Given the description of an element on the screen output the (x, y) to click on. 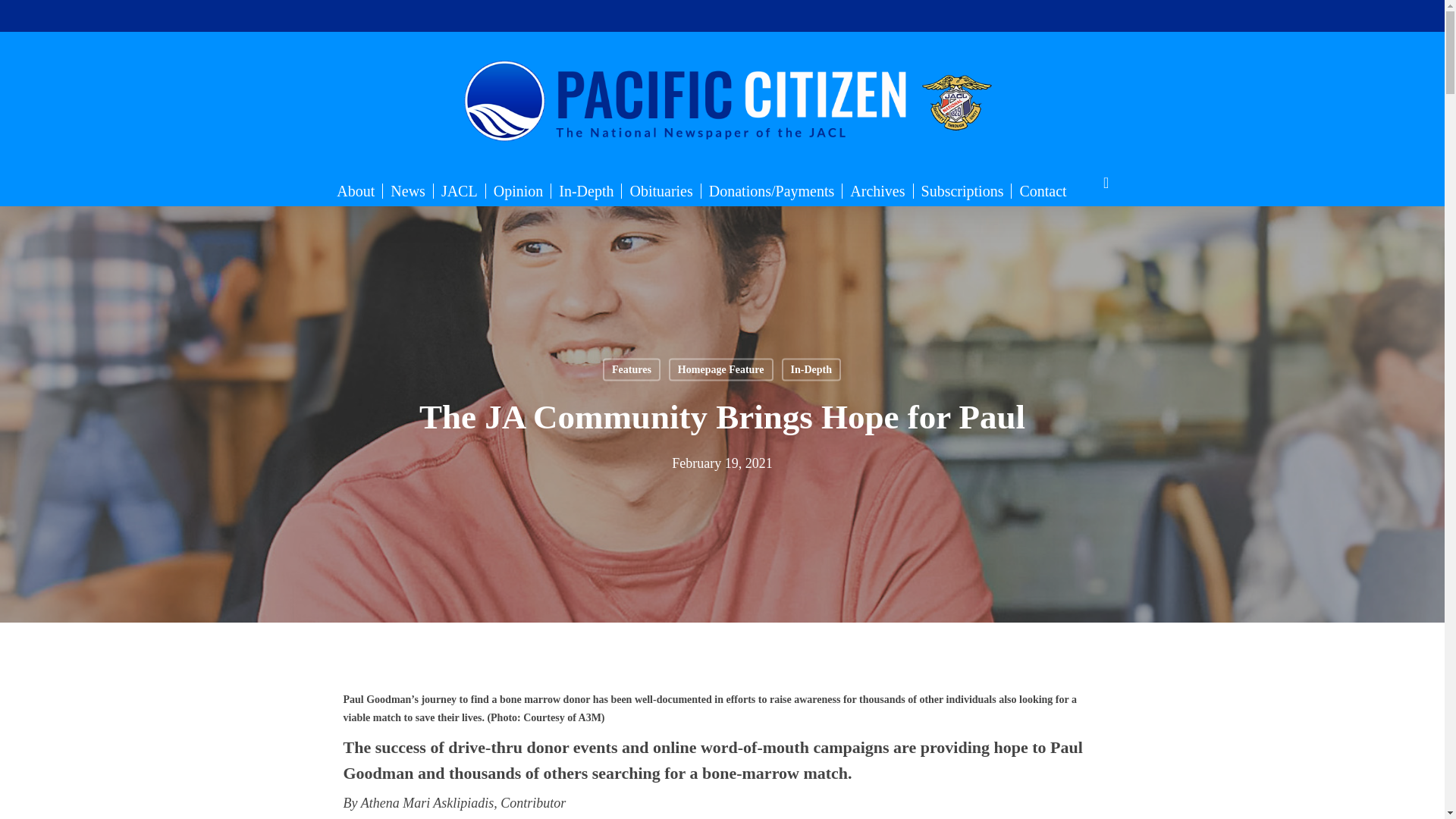
News (407, 191)
Obituaries (660, 191)
About (355, 191)
JACL (459, 191)
Opinion (518, 191)
Archives (877, 191)
In-Depth (586, 191)
Subscriptions (962, 191)
search (1106, 182)
Contact (1042, 191)
